Given the description of an element on the screen output the (x, y) to click on. 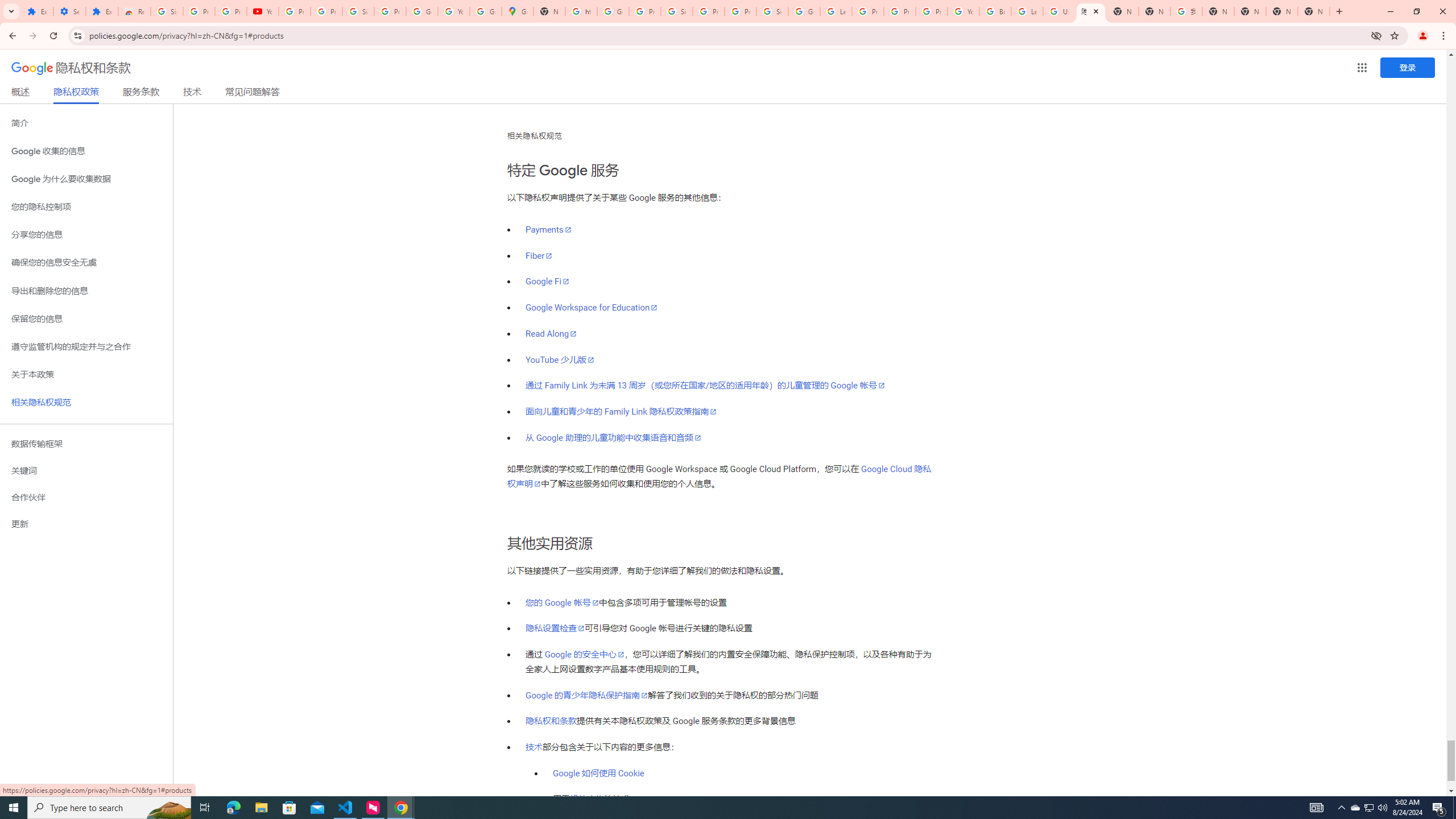
Privacy Help Center - Policies Help (868, 11)
YouTube (262, 11)
Fiber (539, 255)
Sign in - Google Accounts (358, 11)
Google Account (421, 11)
New Tab (1313, 11)
